Given the description of an element on the screen output the (x, y) to click on. 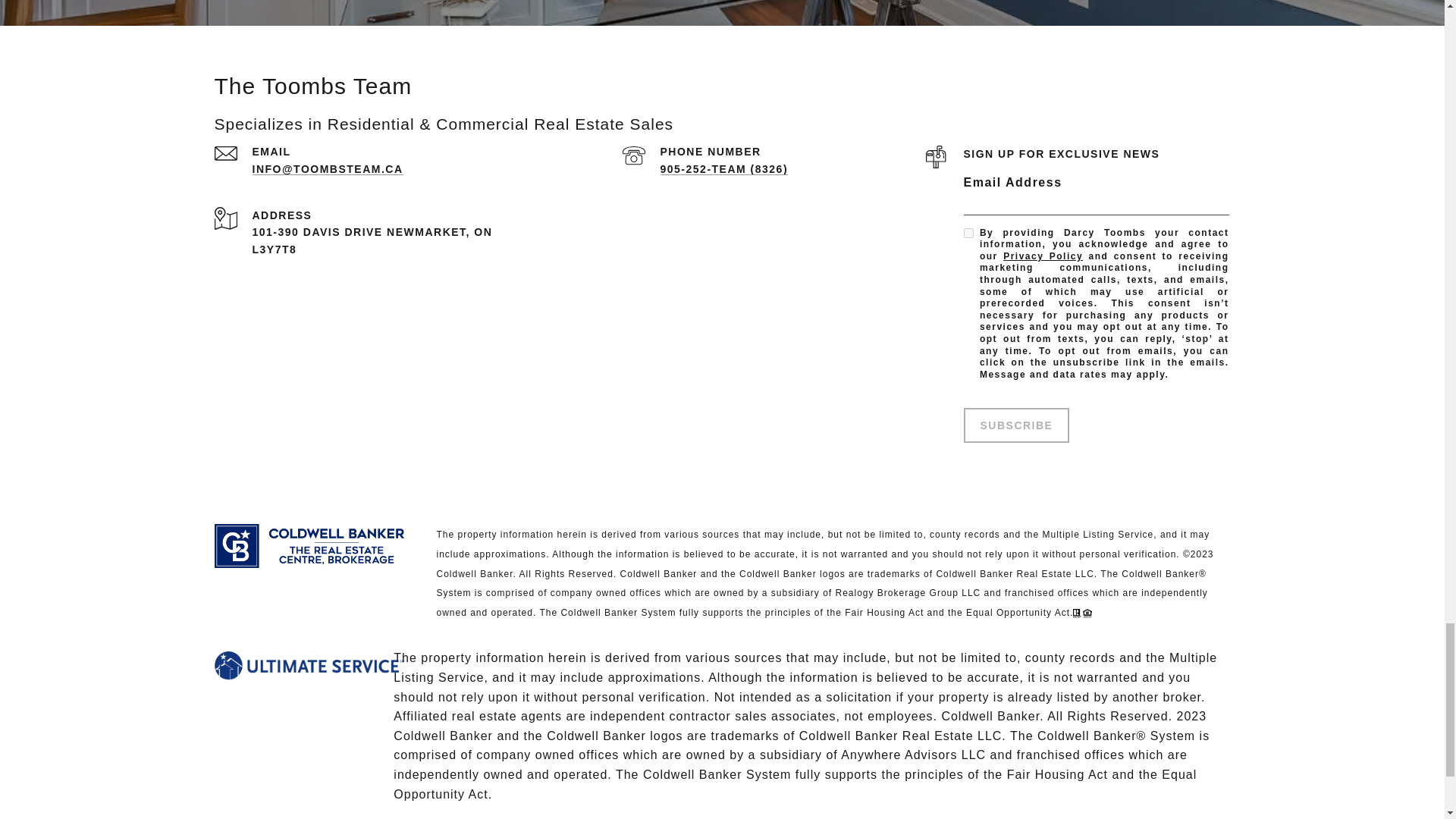
on (967, 233)
